Given the description of an element on the screen output the (x, y) to click on. 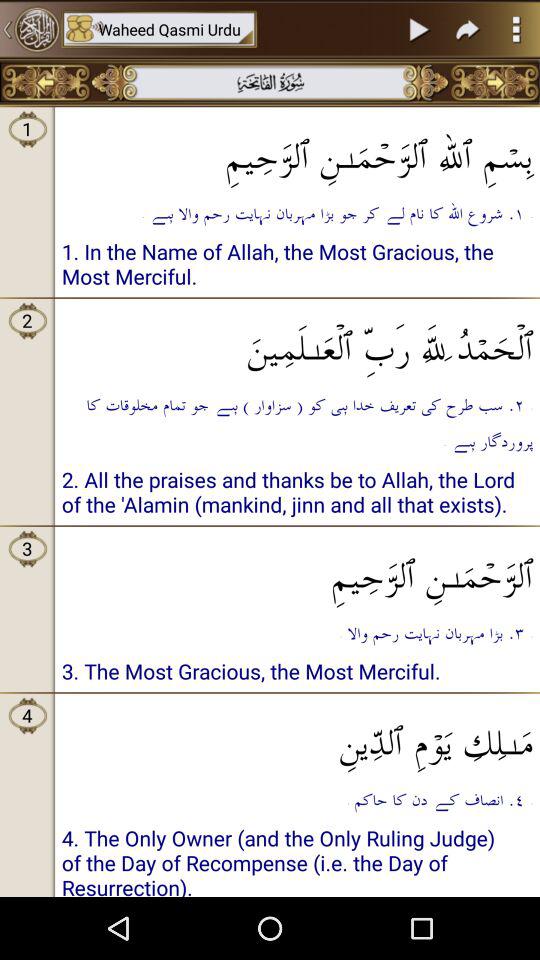
next page (468, 29)
